Given the description of an element on the screen output the (x, y) to click on. 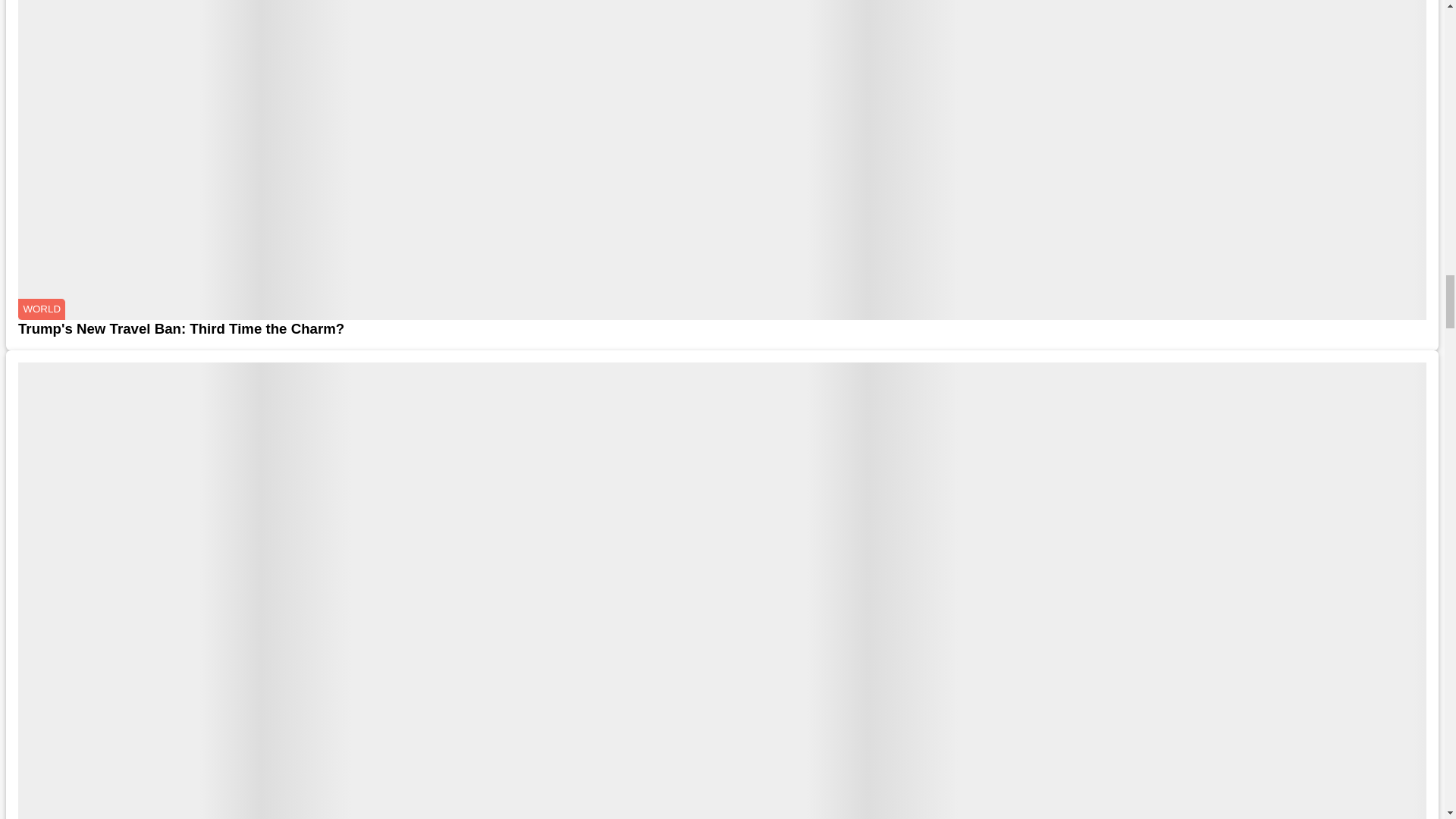
WORLD (41, 309)
Trump's New Travel Ban: Third Time the Charm?  (721, 329)
